Given the description of an element on the screen output the (x, y) to click on. 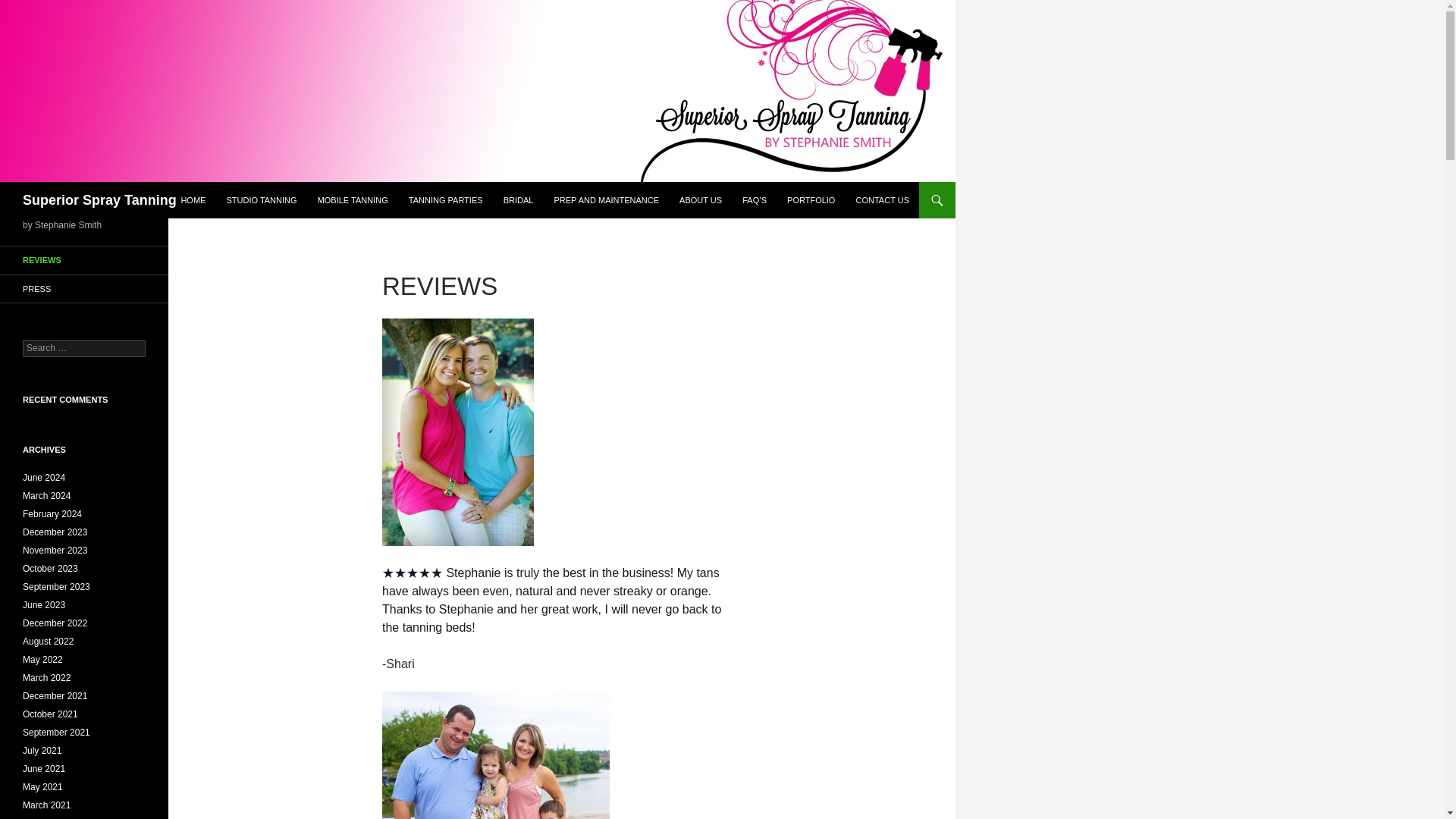
MOBILE TANNING (352, 199)
BRIDAL (519, 199)
March 2024 (46, 495)
PRESS (84, 288)
June 2024 (44, 477)
HOME (192, 199)
CONTACT US (881, 199)
Superior Spray Tanning (99, 199)
STUDIO TANNING (260, 199)
REVIEWS (84, 260)
Search (30, 8)
TANNING PARTIES (445, 199)
ABOUT US (699, 199)
PORTFOLIO (810, 199)
